Given the description of an element on the screen output the (x, y) to click on. 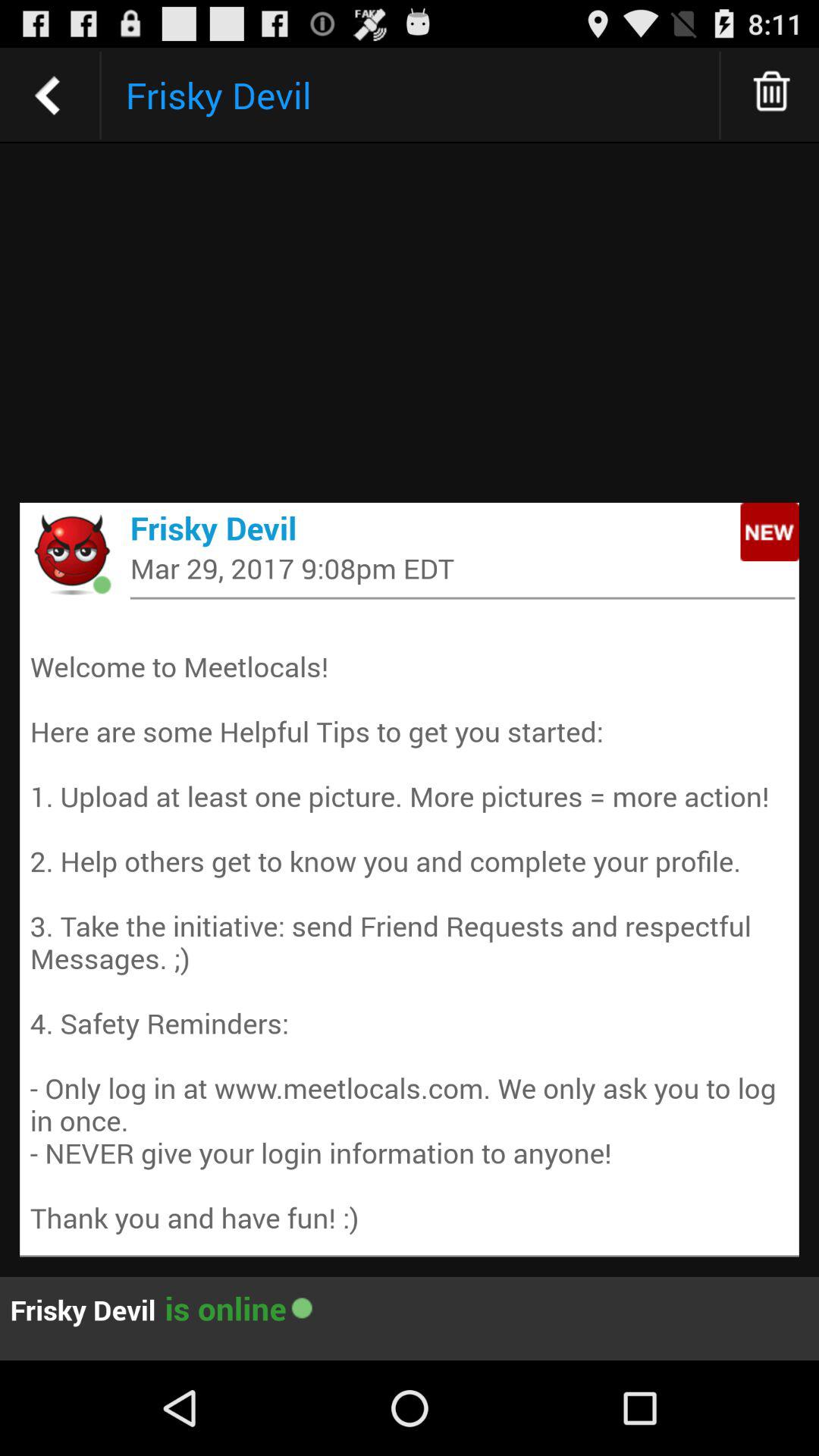
back (47, 95)
